Given the description of an element on the screen output the (x, y) to click on. 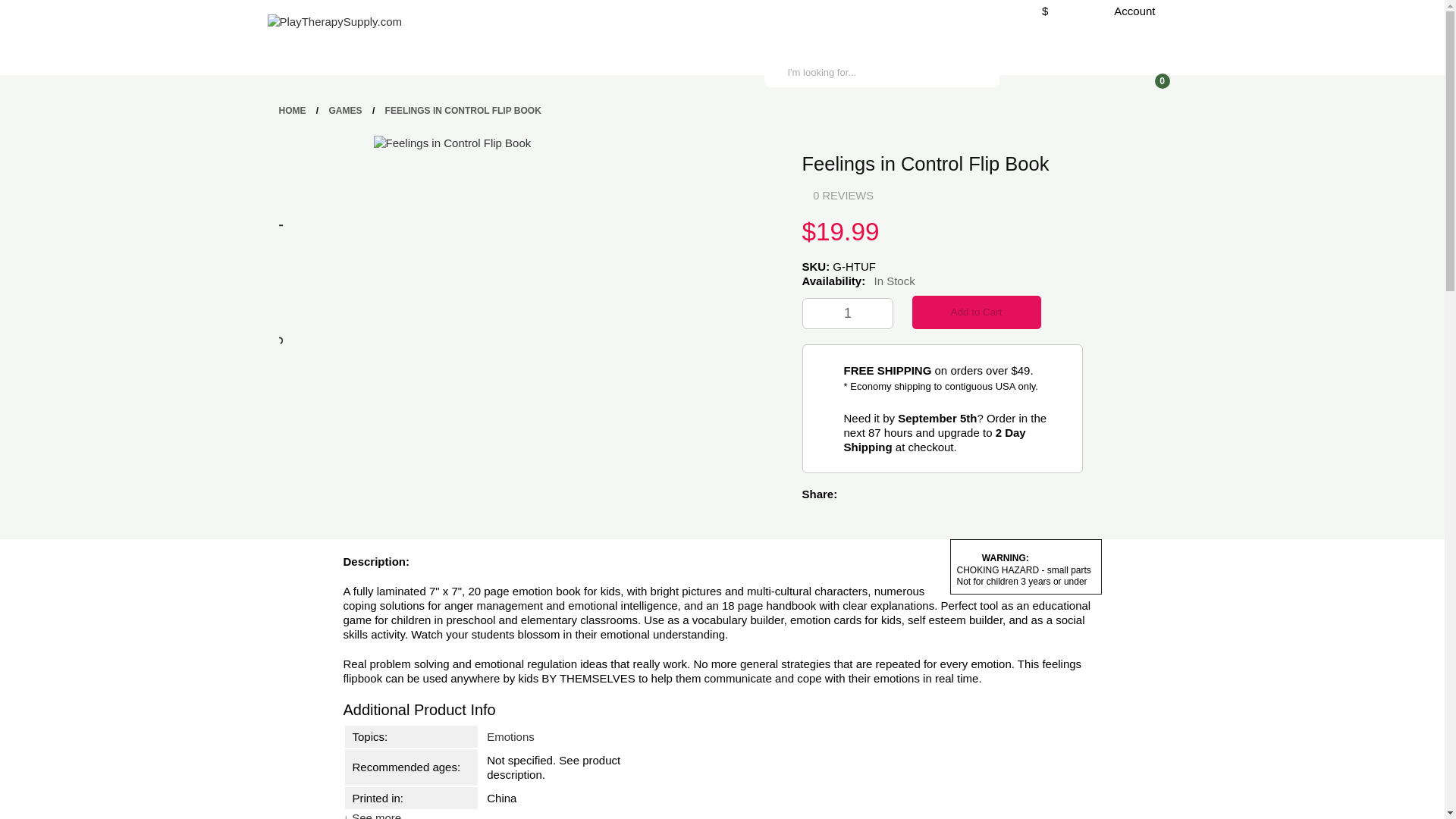
0 (1152, 71)
Feelings in Control Flip Book (273, 288)
View Cart (1152, 71)
Feelings in Control Flip Book (451, 142)
Feelings in Control Flip Book (377, 184)
Feelings in Control Flip Book (451, 142)
1 (846, 313)
Feelings in Control Flip Book (185, 288)
